Given the description of an element on the screen output the (x, y) to click on. 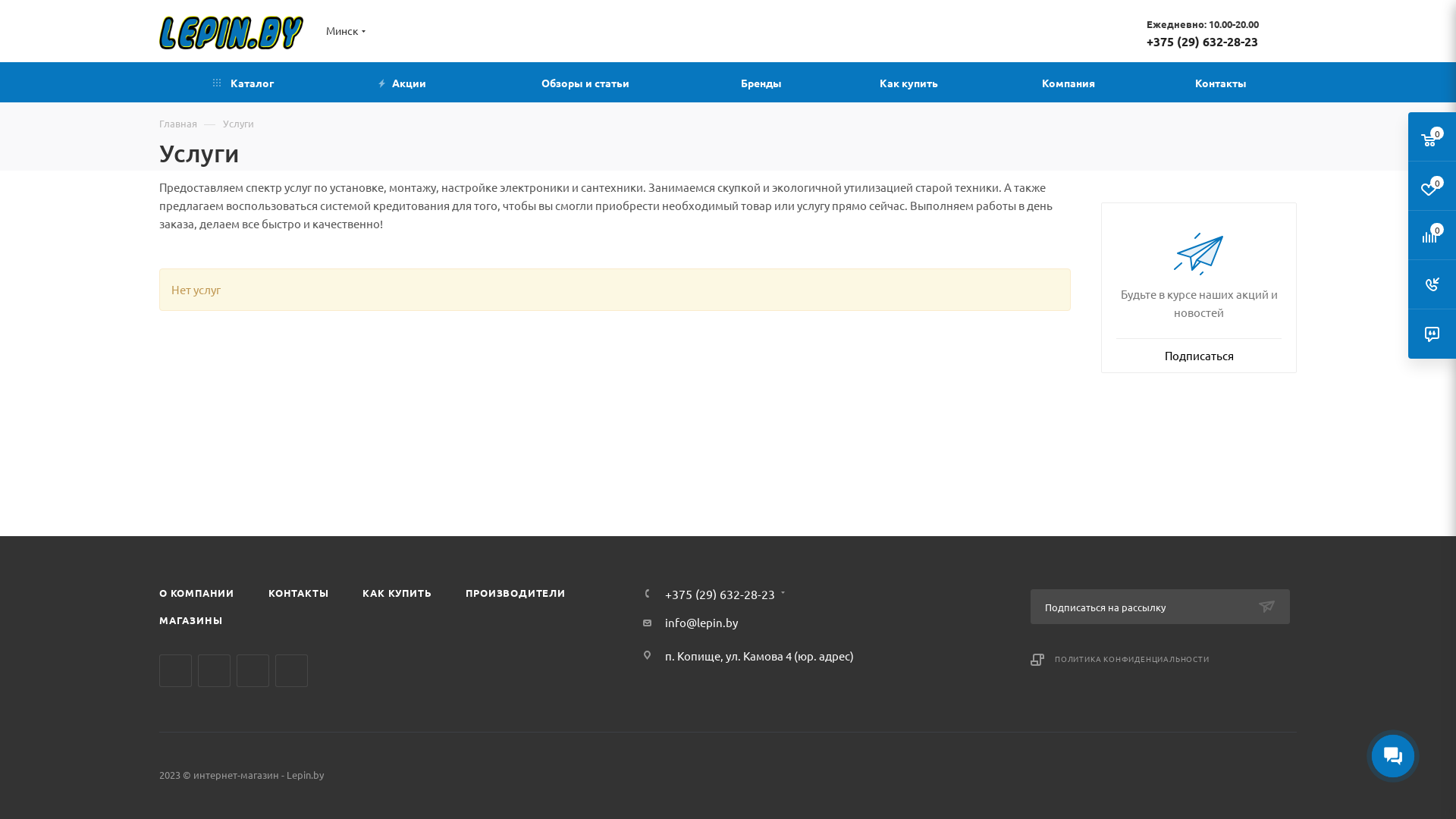
+375 (29) 632-28-23 Element type: text (720, 593)
Maestro Element type: hover (1223, 773)
Belkart Element type: hover (1257, 773)
Viber Element type: text (291, 670)
Halva Element type: hover (1289, 773)
Instagram Element type: text (252, 670)
info@lepin.by Element type: text (701, 622)
MasterCard Element type: hover (1118, 773)
Visa Element type: hover (1157, 773)
Facebook Element type: text (213, 670)
+375 (29) 632-28-23 Element type: text (1202, 41)
Alfa Element type: hover (1191, 772)
Lepin.by Element type: hover (231, 32)
Cash Element type: hover (1084, 773)
